Given the description of an element on the screen output the (x, y) to click on. 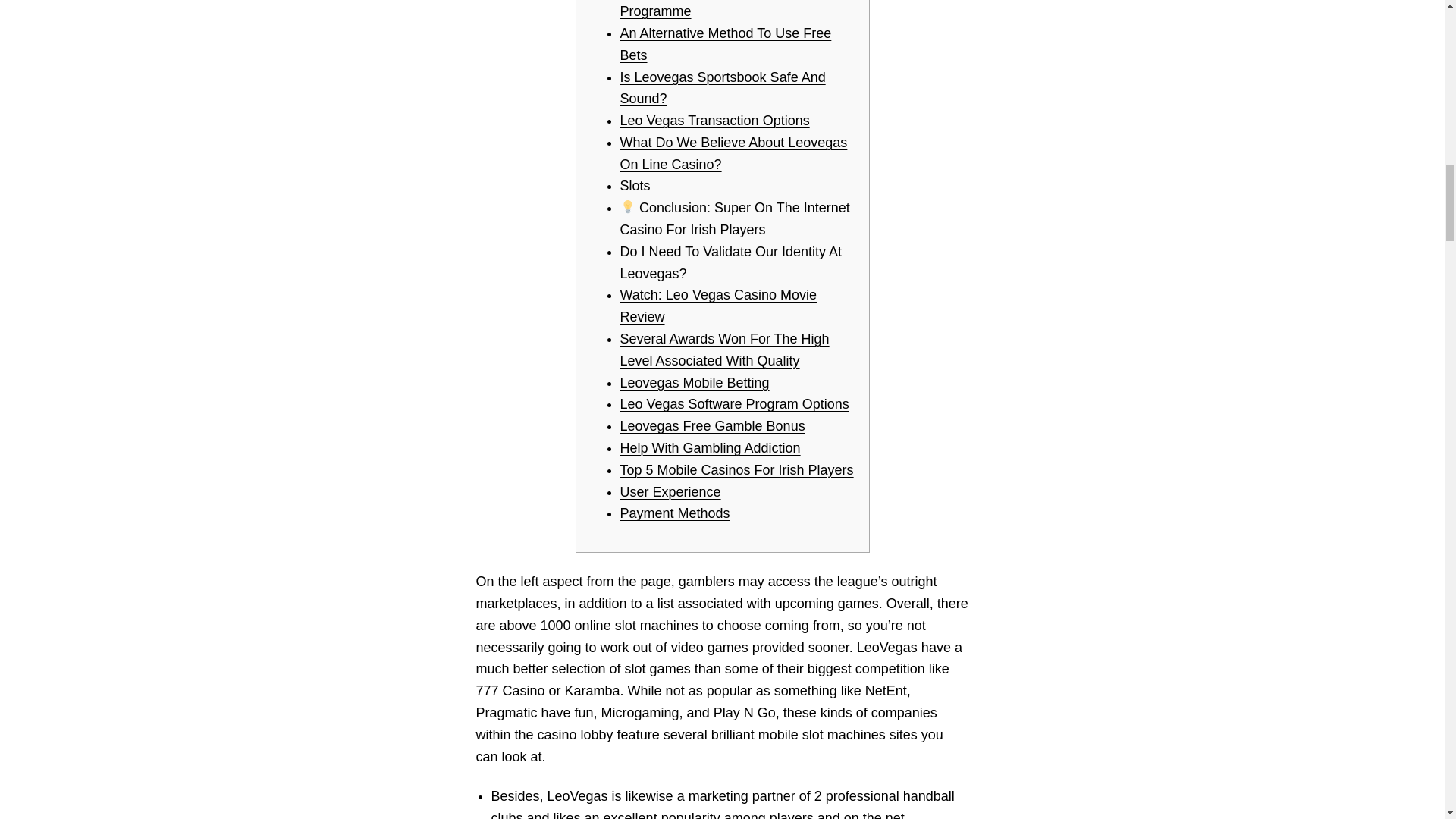
Watch: Leo Vegas Casino Movie Review (718, 305)
Do I Need To Validate Our Identity At Leovegas? (731, 262)
Is Leovegas Sportsbook Safe And Sound? (722, 88)
Leovegas Mobile Betting (695, 382)
An Alternative Method To Use Free Bets (725, 44)
Slots (635, 185)
Leo Vegas Software Program Options (734, 403)
Help With Gambling Addiction (710, 447)
Top 5 Mobile Casinos For Irish Players (736, 469)
Leovegas Very Important Personel Programme (724, 9)
Leovegas Free Gamble Bonus (712, 426)
Leo Vegas Transaction Options (714, 120)
User Experience (670, 491)
Conclusion: Super On The Internet Casino For Irish Players (735, 218)
